Given the description of an element on the screen output the (x, y) to click on. 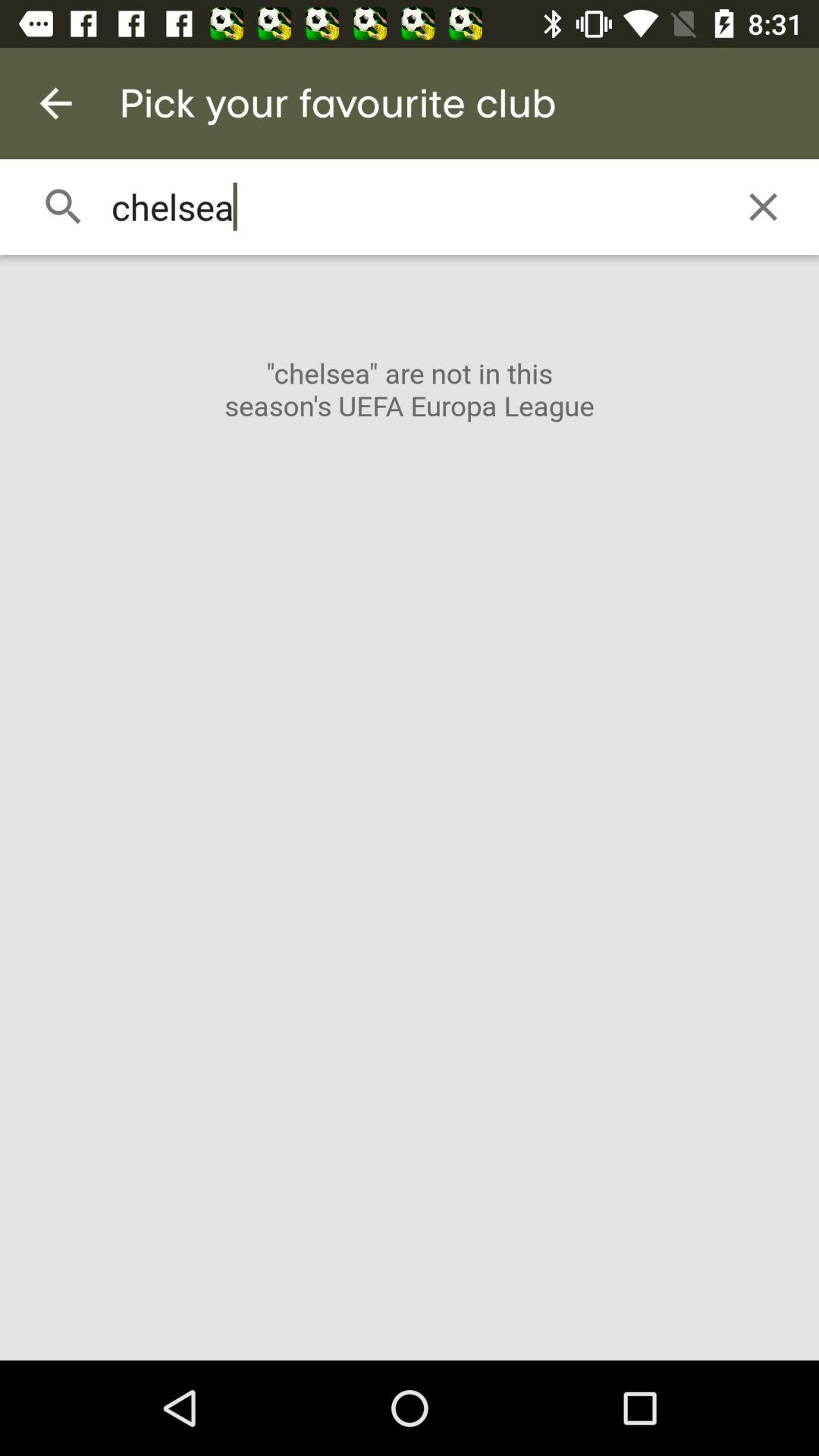
launch item at the top right corner (763, 206)
